Given the description of an element on the screen output the (x, y) to click on. 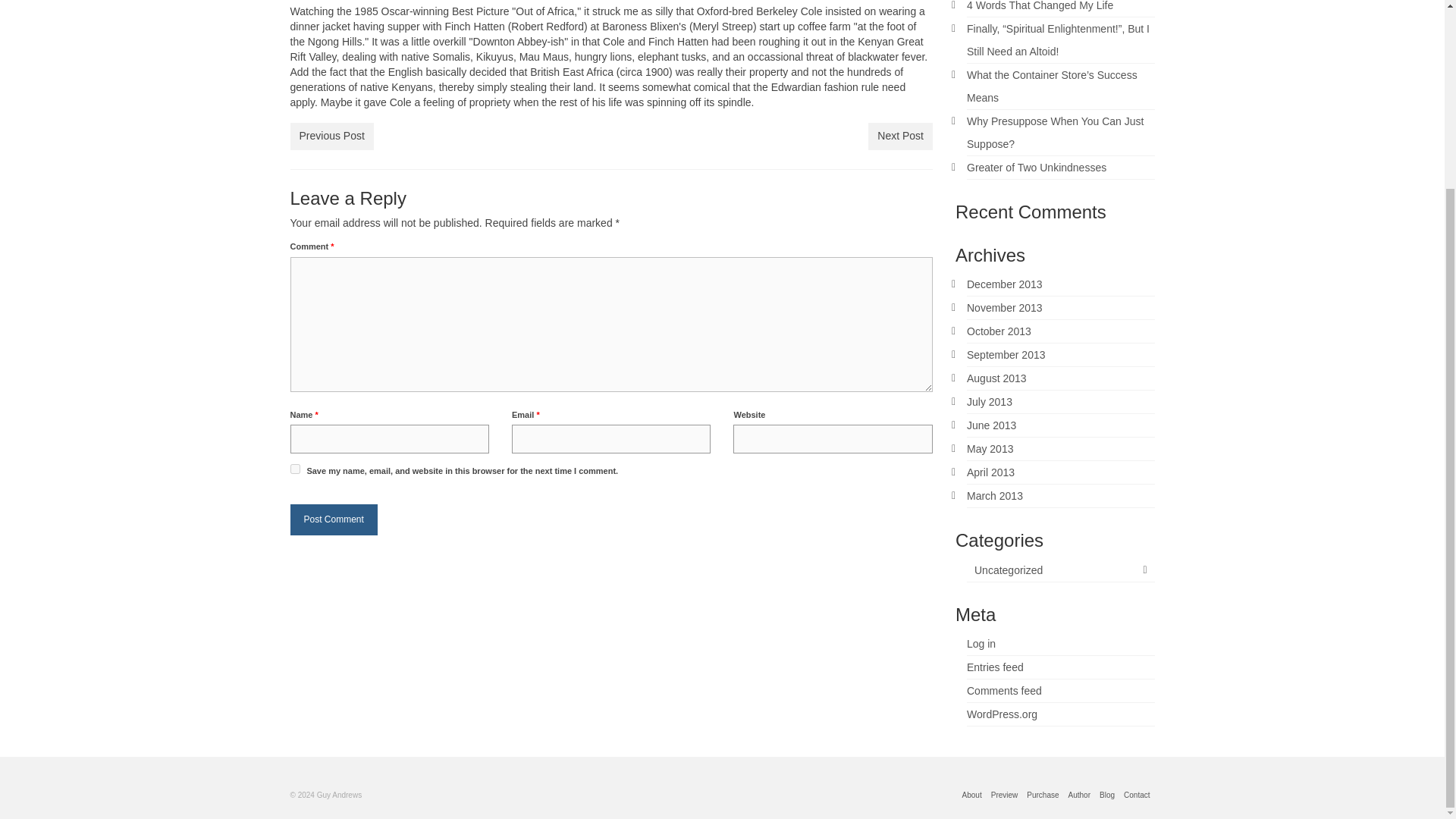
Entries feed (994, 666)
Previous Post (330, 135)
November 2013 (1004, 307)
4 Words That Changed My Life (1039, 5)
Log in (980, 644)
September 2013 (1005, 354)
Greater of Two Unkindnesses (1036, 167)
July 2013 (988, 401)
yes (294, 469)
Next Post (900, 135)
August 2013 (996, 378)
October 2013 (998, 331)
Why Presuppose When You Can Just Suppose? (1054, 132)
May 2013 (989, 449)
June 2013 (991, 425)
